Given the description of an element on the screen output the (x, y) to click on. 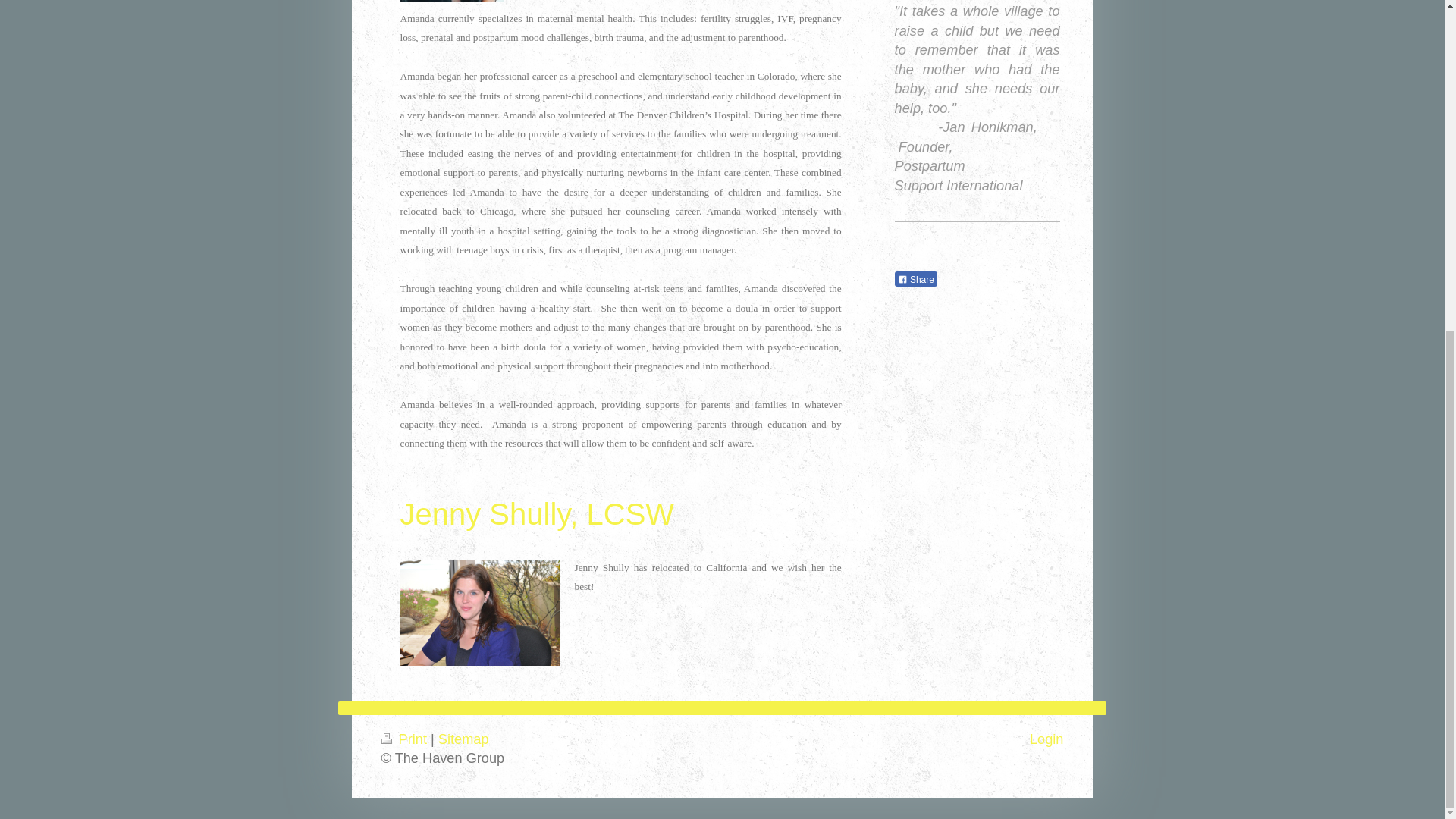
Print (405, 739)
Login (1046, 739)
Sitemap (463, 739)
Share (916, 279)
